Given the description of an element on the screen output the (x, y) to click on. 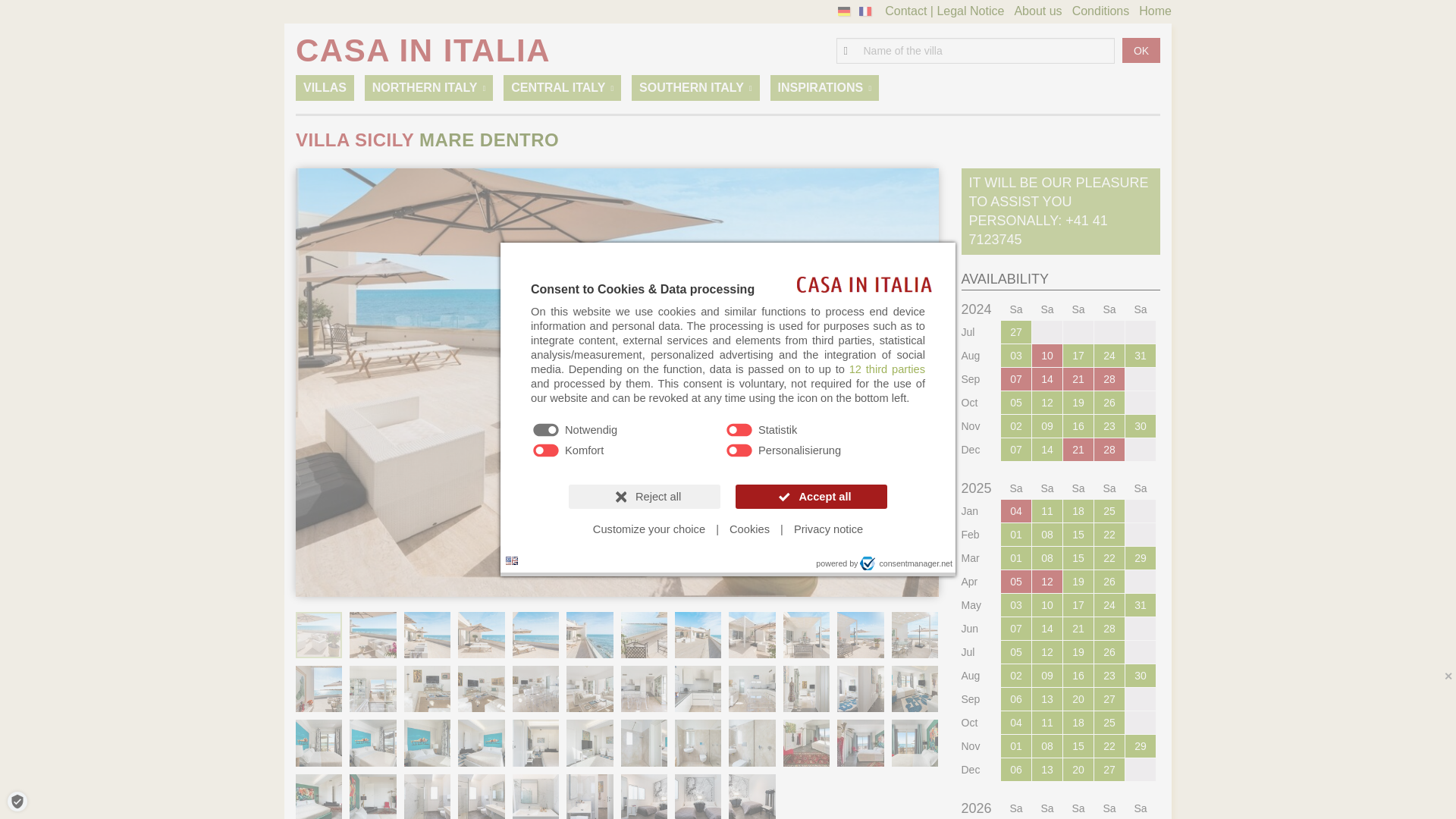
About us (1037, 11)
Northern Italy (429, 87)
Central Italy (562, 87)
Purpose (727, 440)
Reject all (644, 495)
SOUTHERN ITALY (695, 87)
VILLAS (324, 87)
consentmanager.net (906, 563)
Privacy notice (828, 529)
Conditions (1100, 11)
About us (1037, 11)
INSPIRATIONS (824, 87)
Accept all (810, 495)
Home (1155, 11)
Home (1155, 11)
